Given the description of an element on the screen output the (x, y) to click on. 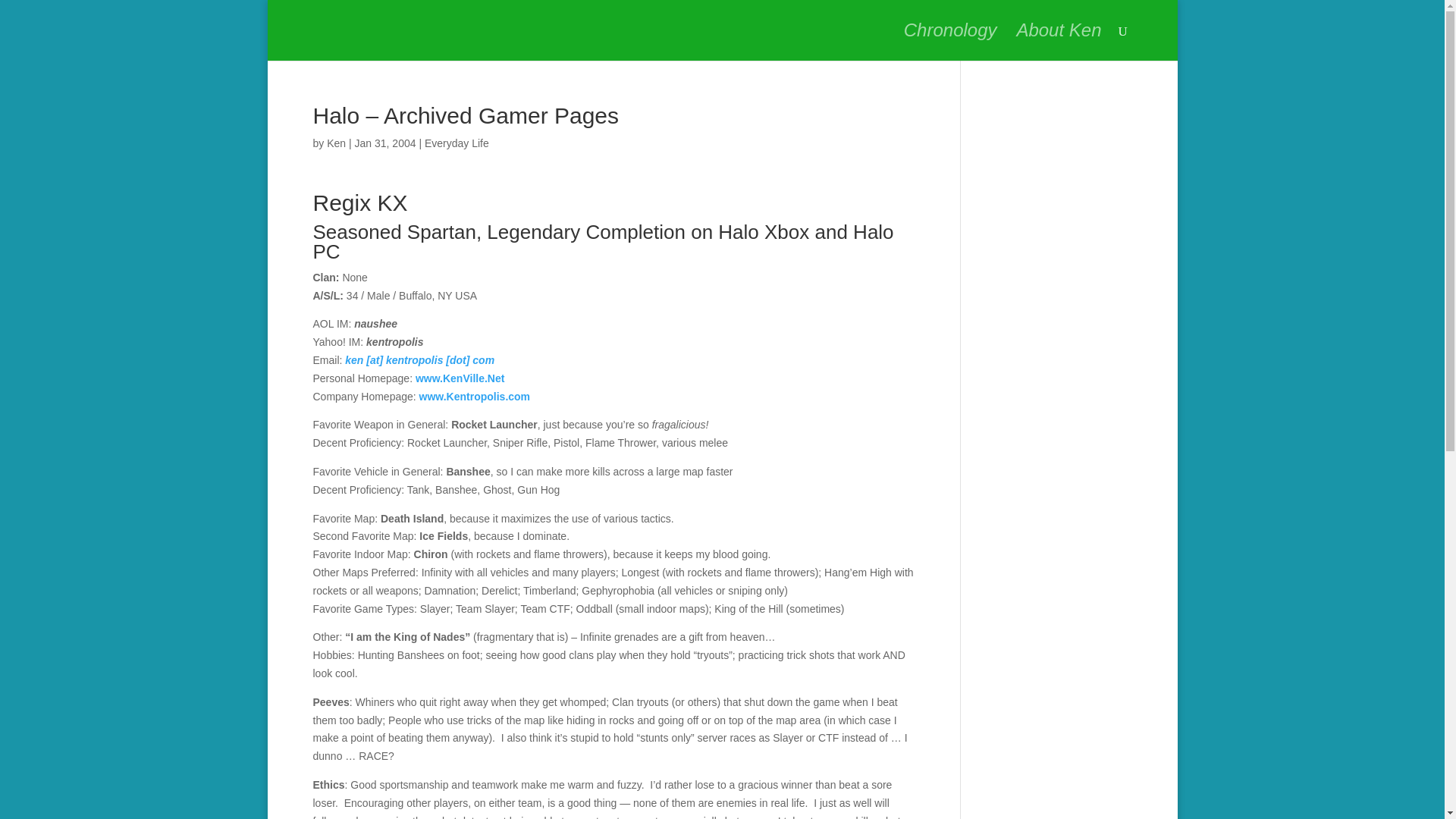
Everyday Life (457, 143)
www.KenVille.Net (458, 378)
www.Kentropolis.com (475, 396)
Chronology (950, 42)
Posts by Ken (336, 143)
About Ken (1058, 42)
Ken (336, 143)
